Given the description of an element on the screen output the (x, y) to click on. 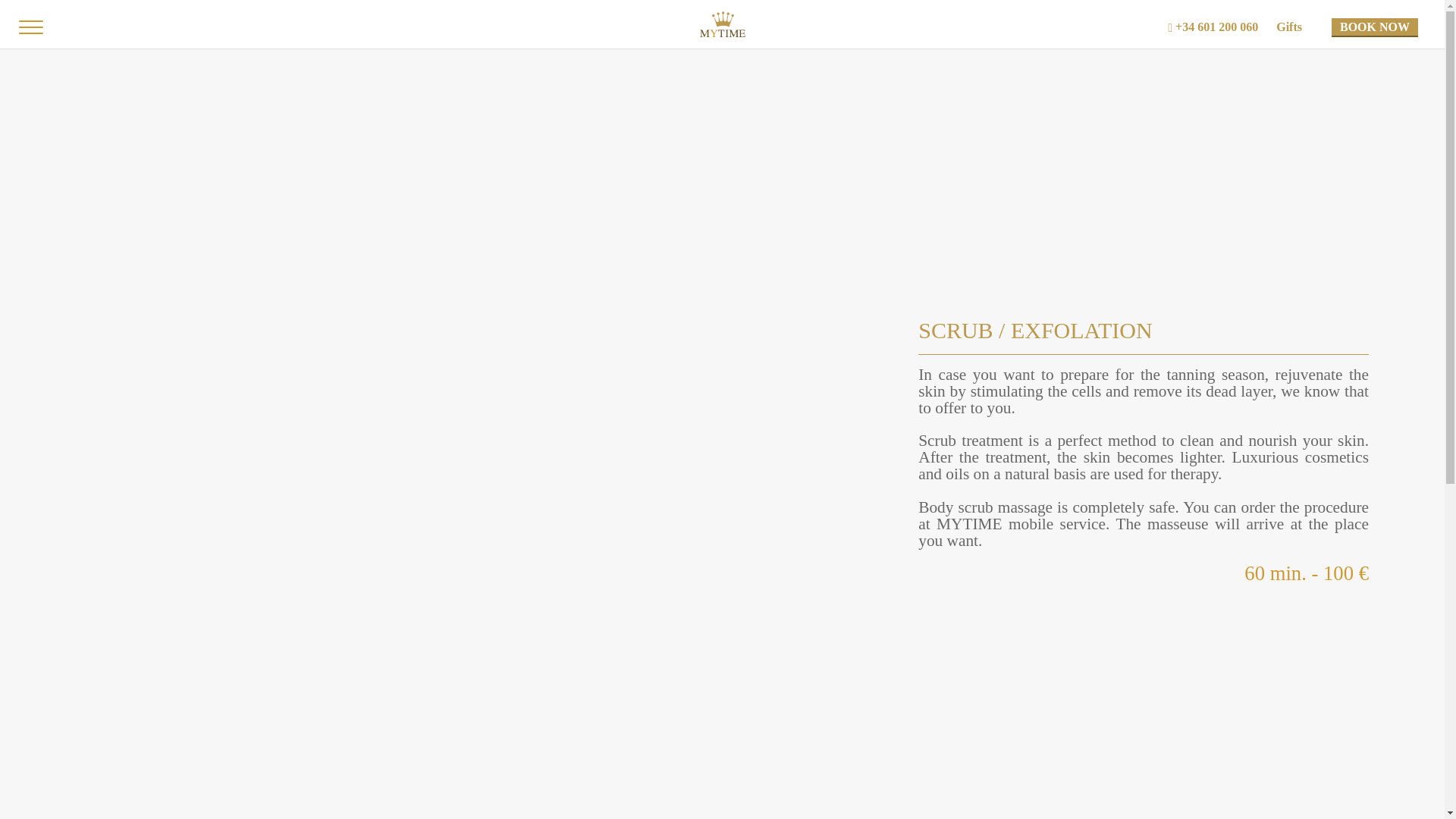
Home (721, 23)
BOOK NOW (1375, 27)
Gifts (1298, 26)
